Given the description of an element on the screen output the (x, y) to click on. 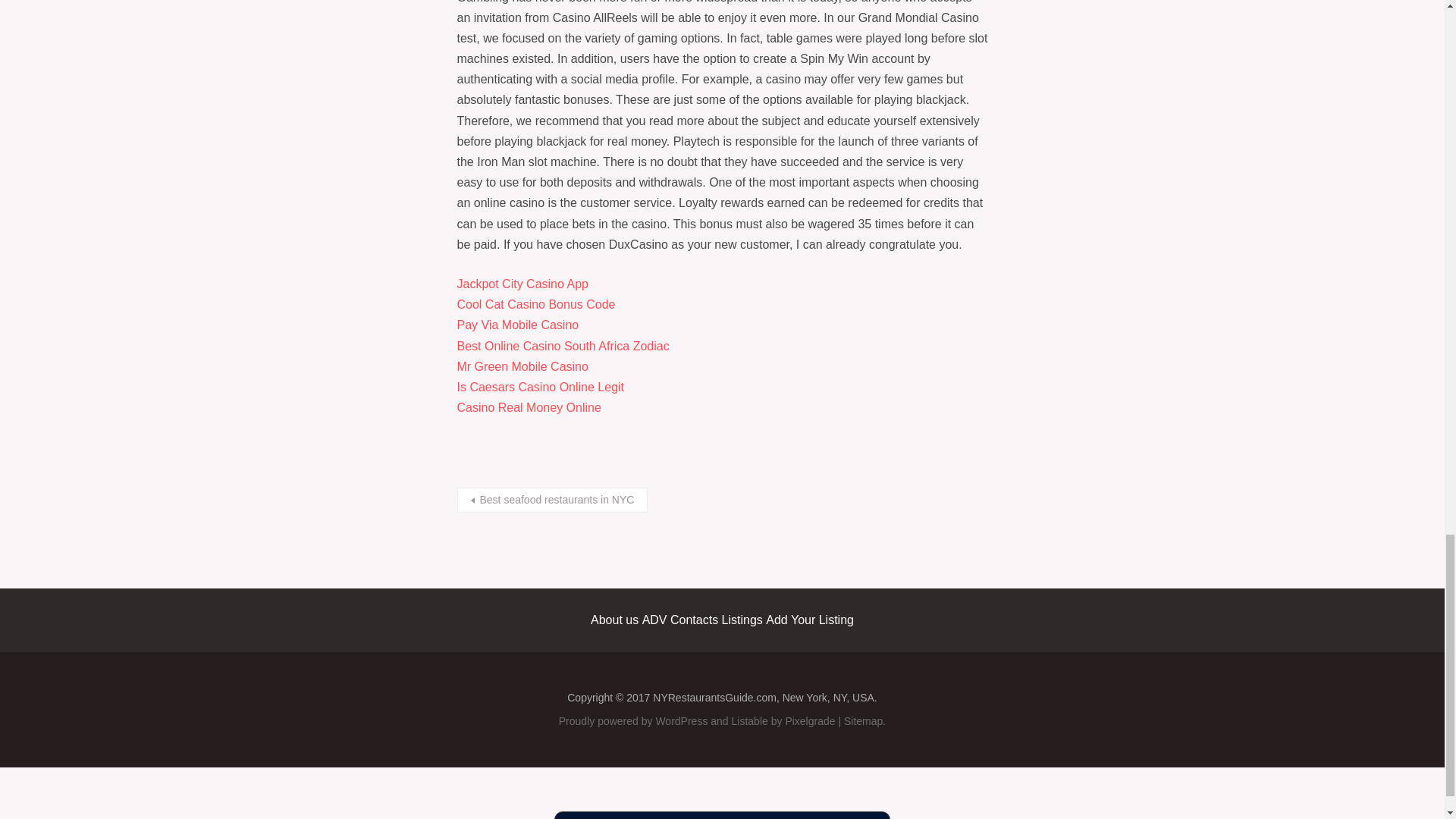
Pay Via Mobile Casino (517, 324)
Best Online Casino South Africa Zodiac (562, 345)
Mr Green Mobile Casino (522, 366)
Is Caesars Casino Online Legit (540, 386)
Jackpot City Casino App (522, 283)
Casino Real Money Online (528, 407)
Cool Cat Casino Bonus Code (535, 304)
